Given the description of an element on the screen output the (x, y) to click on. 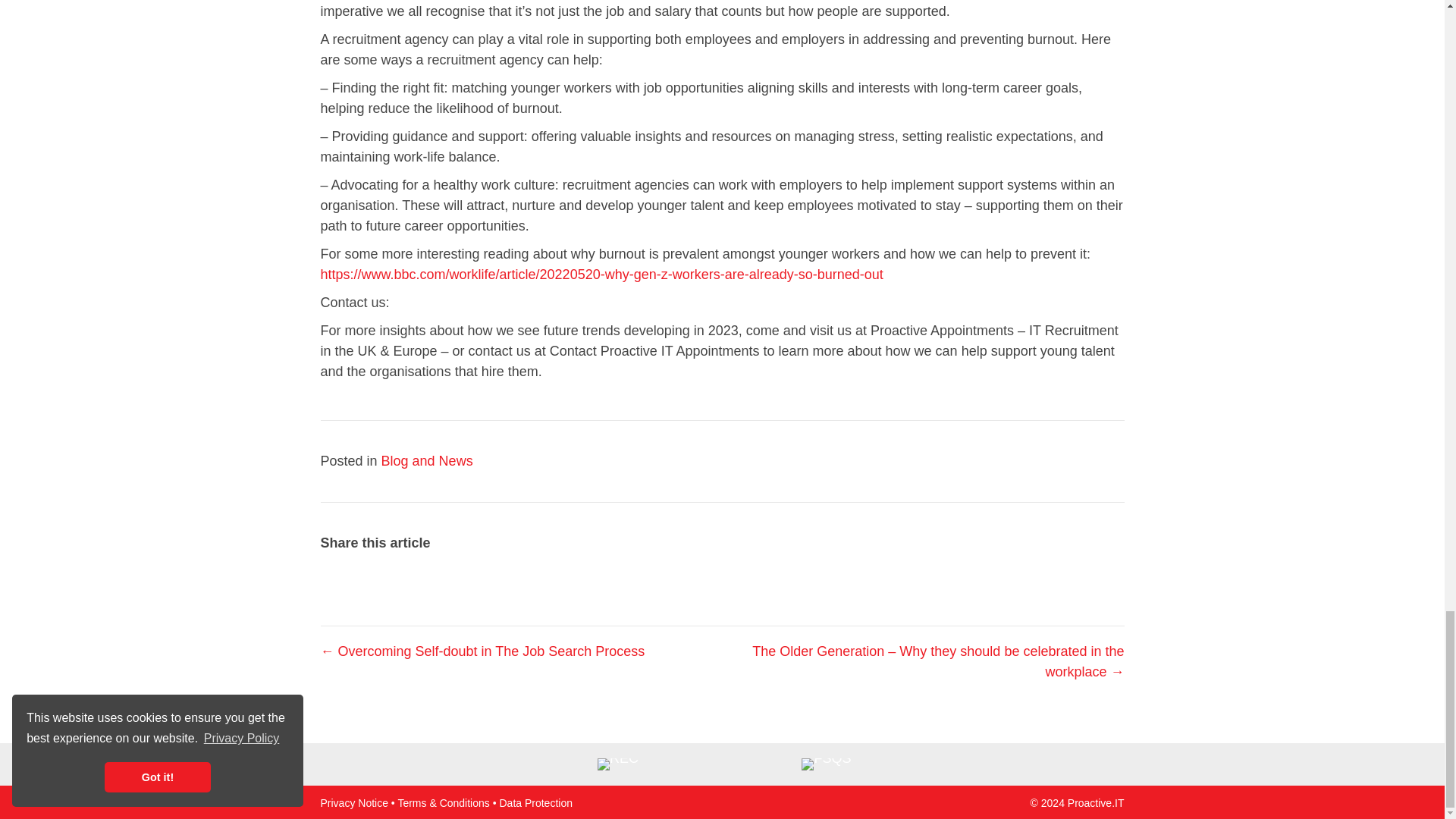
Data Protection (535, 802)
fsqs (826, 764)
Blog and News (427, 460)
Privacy Notice (353, 802)
